Given the description of an element on the screen output the (x, y) to click on. 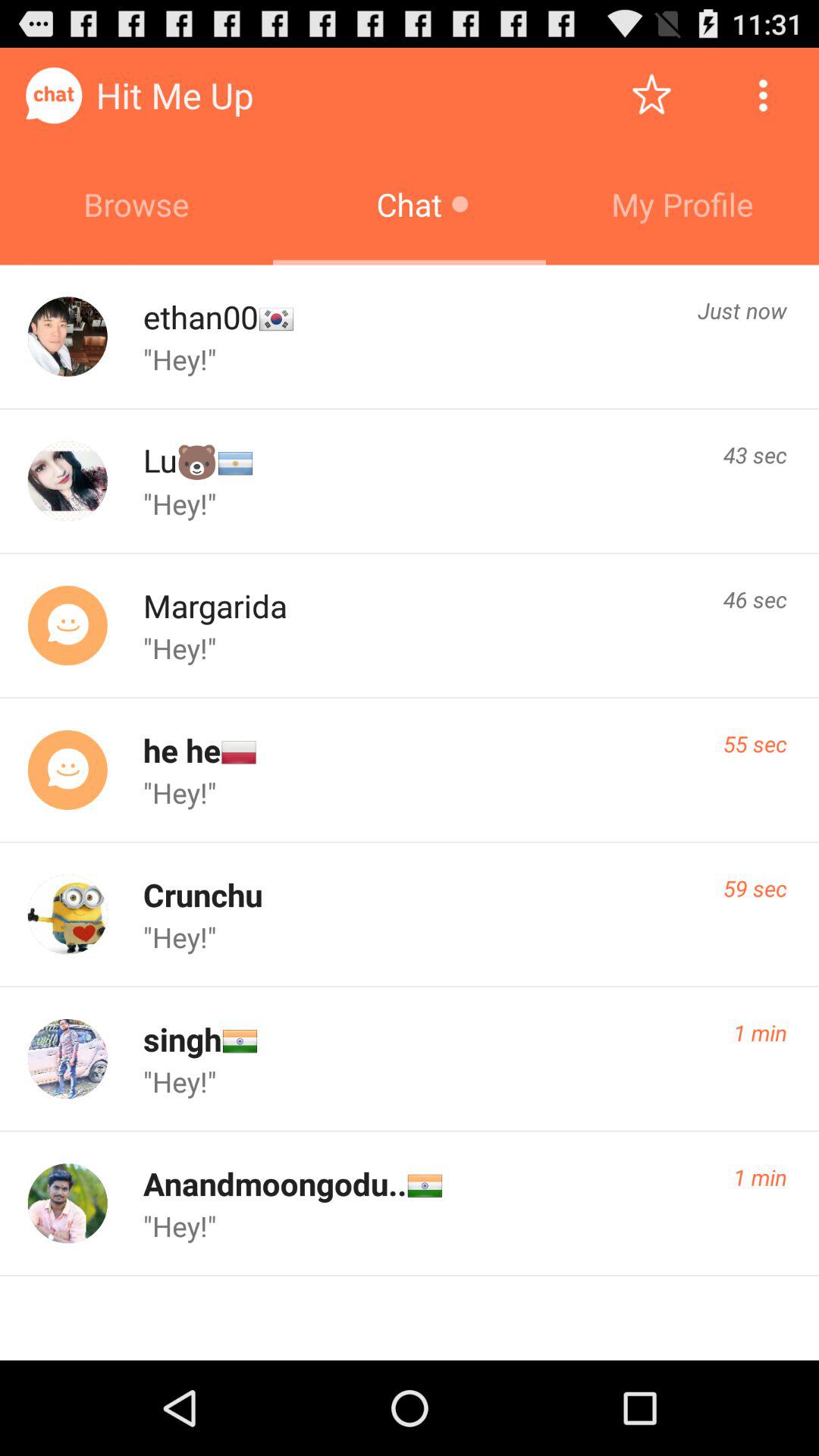
show favorites (651, 95)
